Given the description of an element on the screen output the (x, y) to click on. 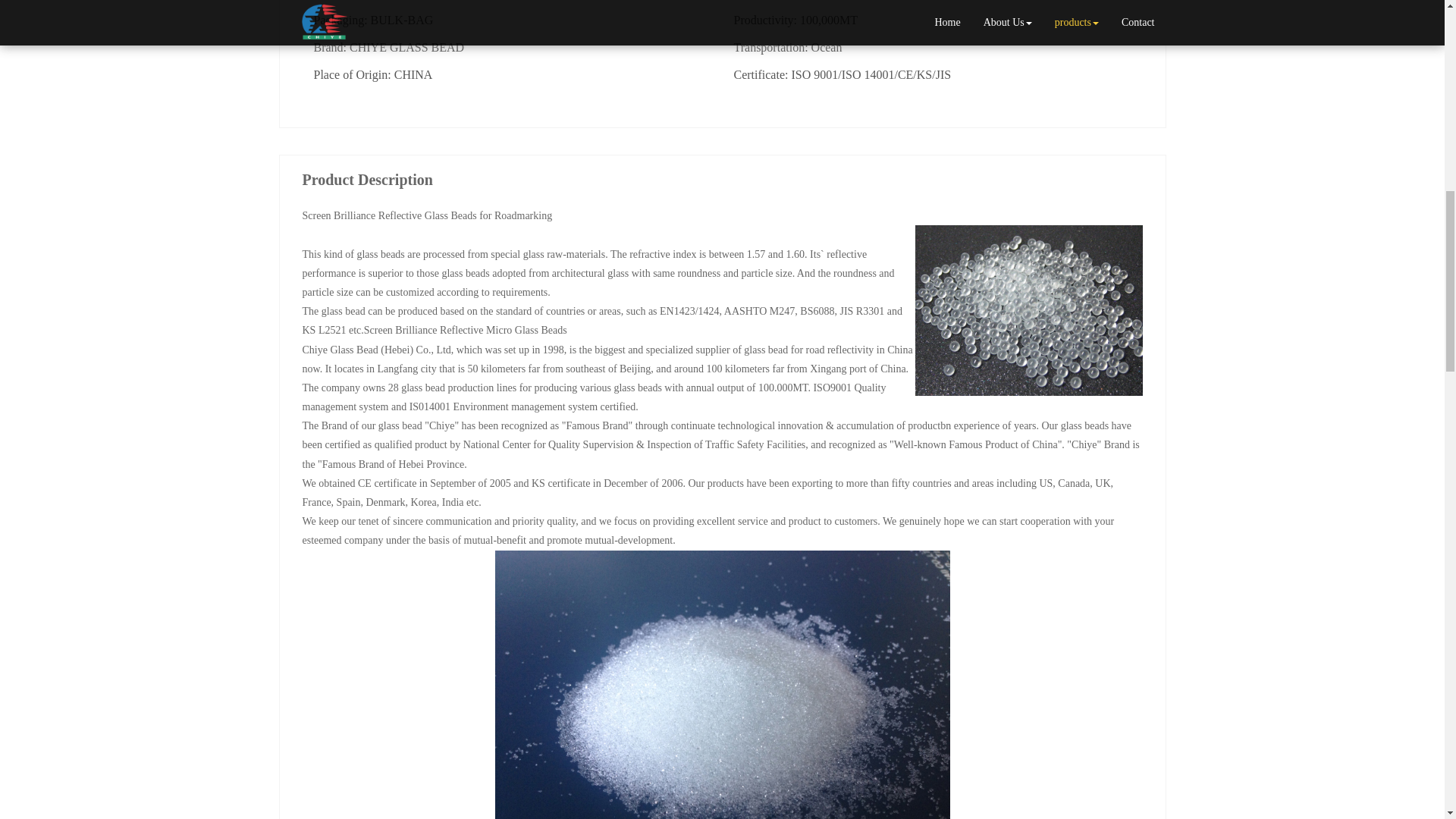
Ocean (826, 47)
100,000MT (828, 19)
BULK-BAG (402, 19)
CHIYE GLASS BEAD (406, 47)
